Given the description of an element on the screen output the (x, y) to click on. 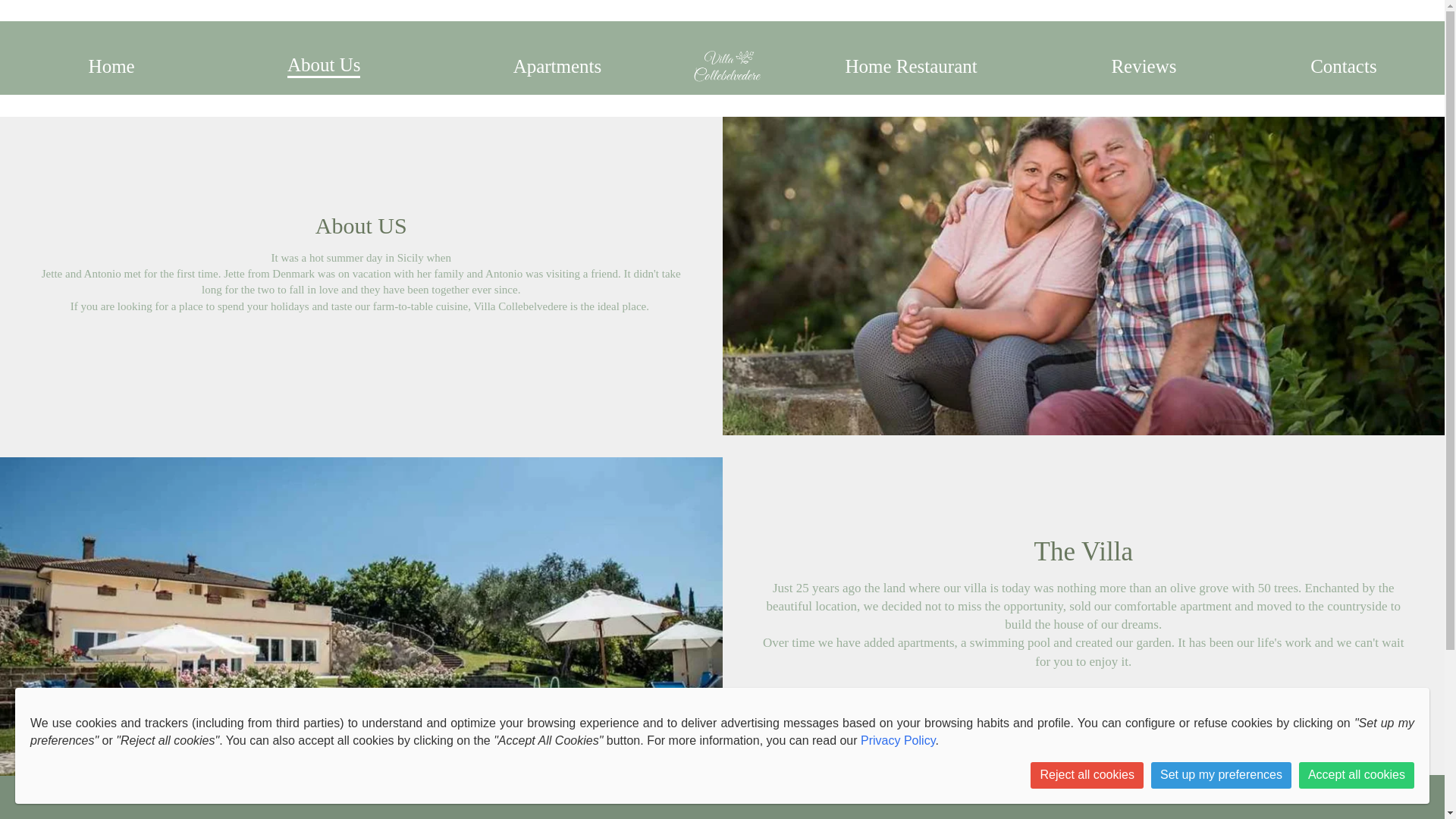
Home (111, 66)
Privacy Policy (897, 739)
Apartments (557, 66)
Reviews (1143, 66)
Home Restaurant (910, 66)
Contacts (1343, 66)
About Us (323, 64)
Reject all cookies (1086, 775)
